Given the description of an element on the screen output the (x, y) to click on. 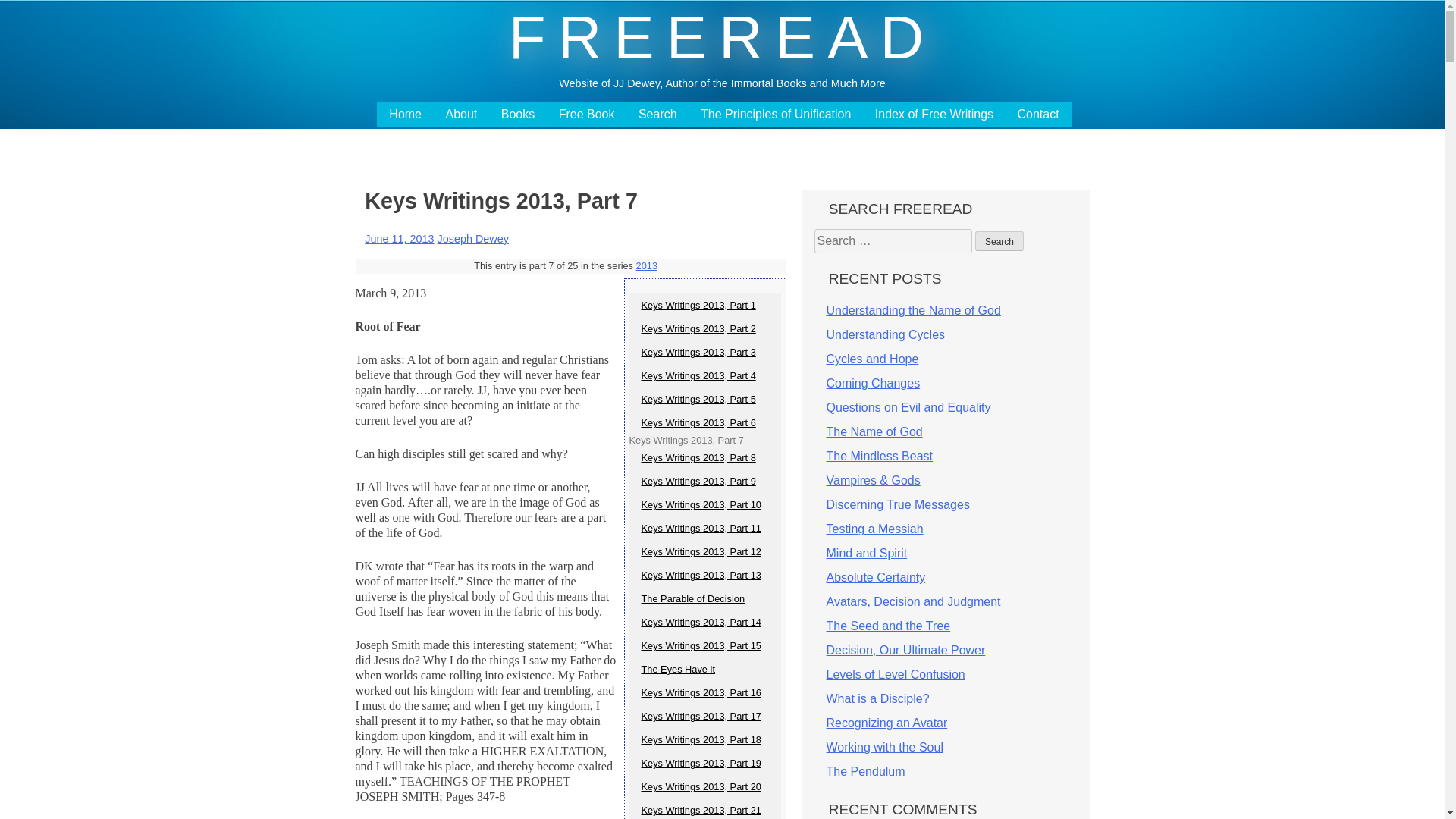
Home (405, 114)
Keys Writings 2013, Part 14 (704, 621)
Search (999, 240)
Keys Writings 2013, Part 6 (704, 422)
Contact (1038, 114)
June 11, 2013 (399, 238)
Keys Writings 2013, Part 13 (704, 575)
2013 (647, 265)
2013 (647, 265)
Keys Writings 2013, Part 6 (704, 422)
Keys Writings 2013, Part 11 (704, 527)
Keys Writings 2013, Part 15 (704, 645)
Index of Free Writings (933, 114)
Keys Writings 2013, Part 5 (704, 399)
The Parable of Decision (704, 598)
